Given the description of an element on the screen output the (x, y) to click on. 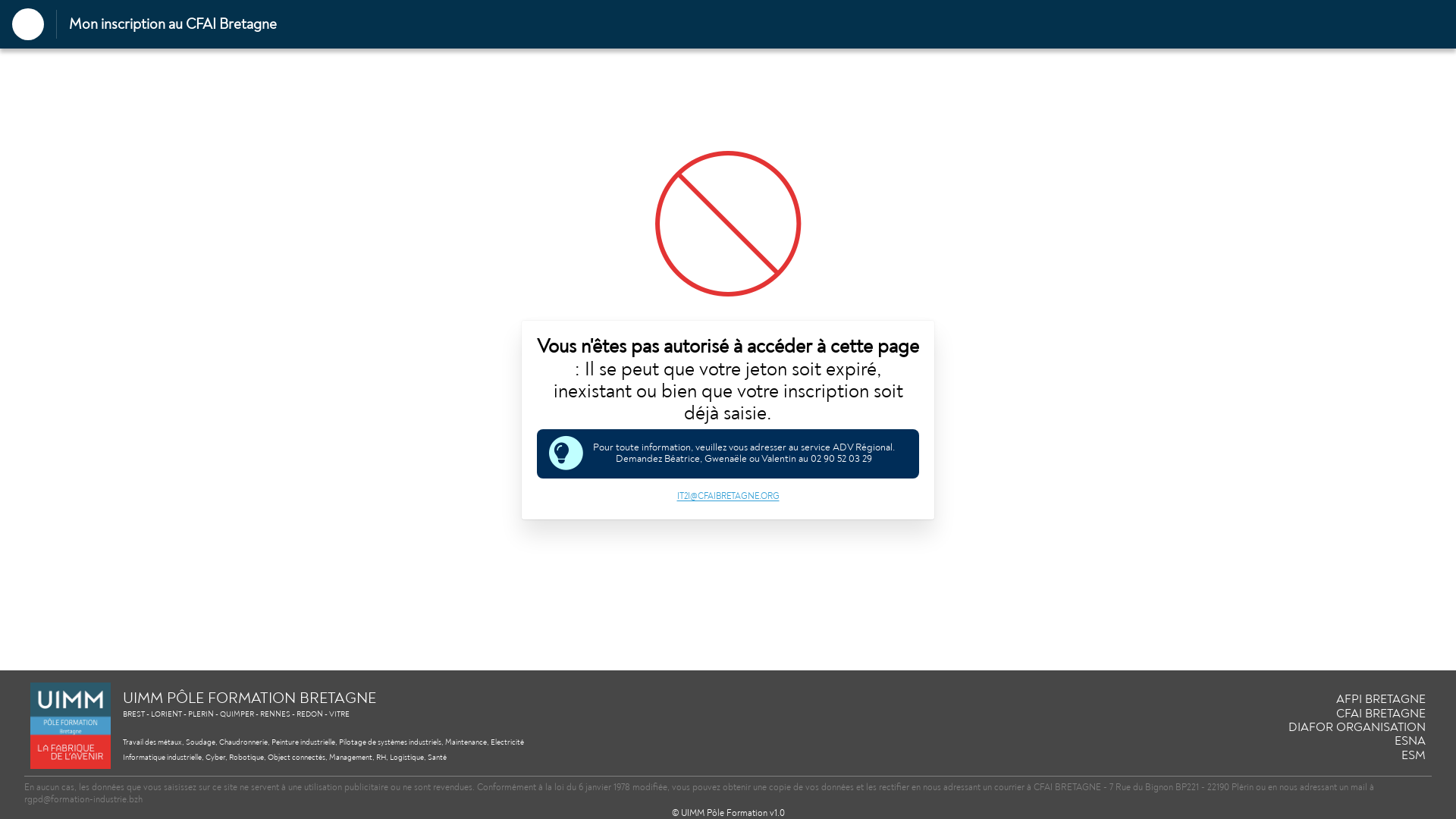
IT2I@CFAIBRETAGNE.ORG Element type: text (727, 496)
rgpd@formation-industrie.bzh Element type: text (83, 799)
